Given the description of an element on the screen output the (x, y) to click on. 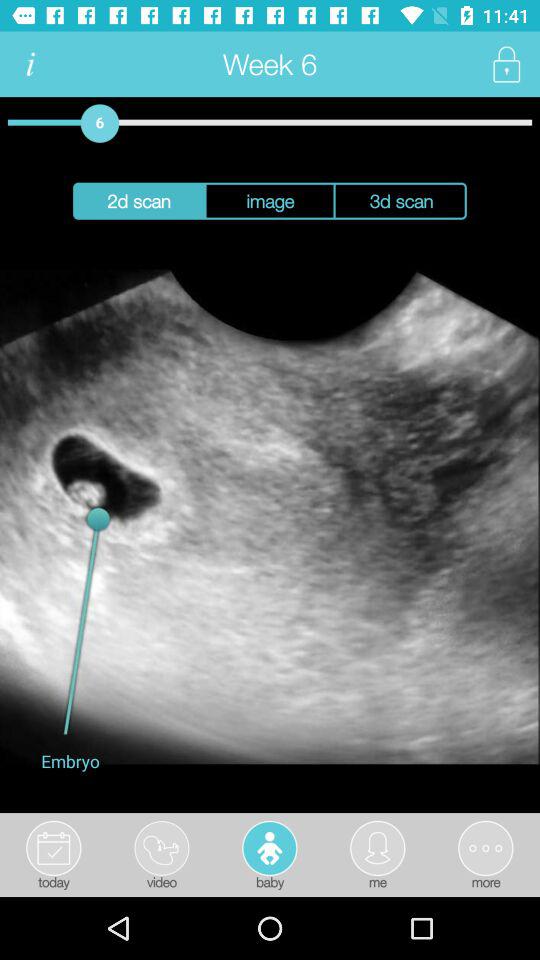
click icon to the right of image (400, 200)
